Given the description of an element on the screen output the (x, y) to click on. 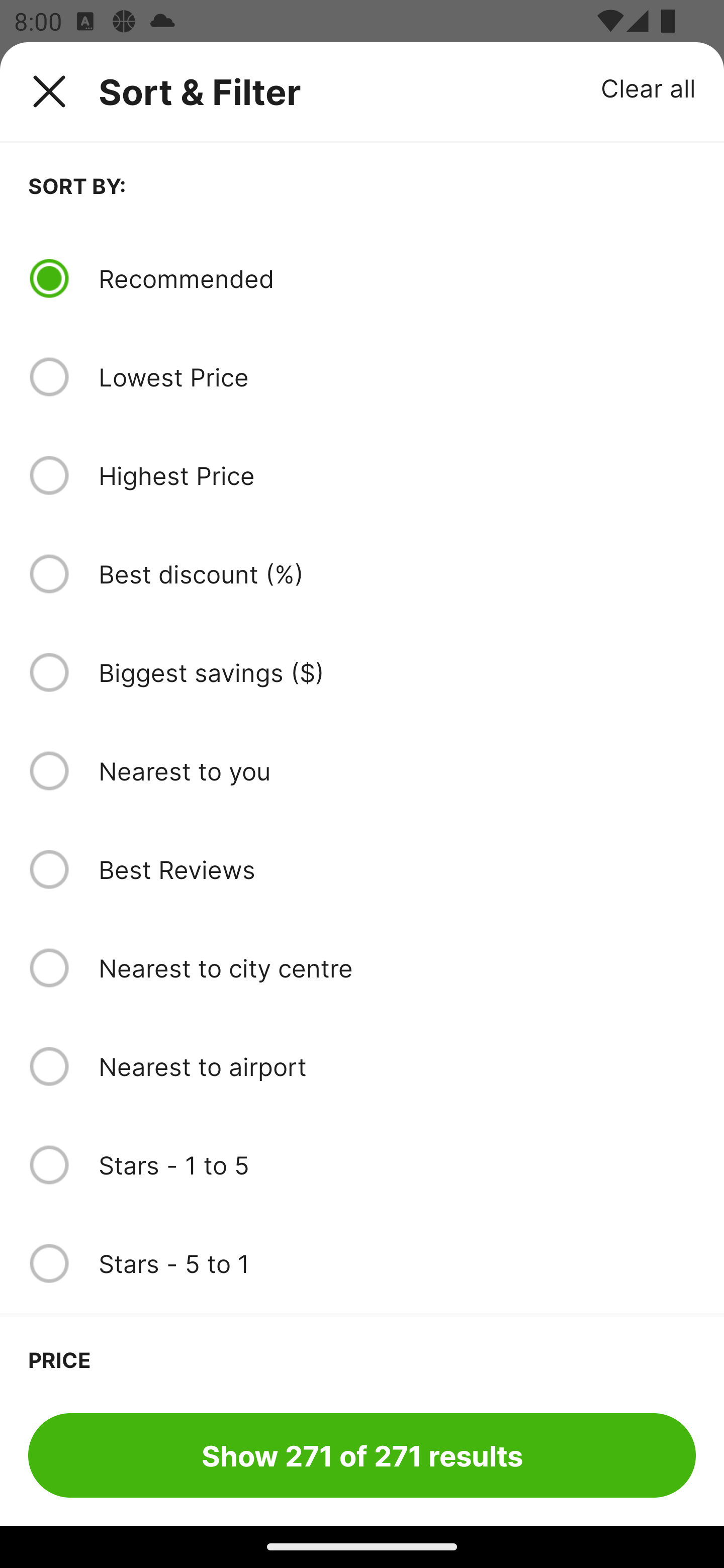
Clear all (648, 87)
Recommended  (396, 278)
Lowest Price (396, 377)
Highest Price (396, 474)
Best discount (%) (396, 573)
Biggest savings ($) (396, 672)
Nearest to you (396, 770)
Best Reviews (396, 869)
Nearest to city centre (396, 968)
Nearest to airport (396, 1065)
Stars - 1 to 5 (396, 1164)
Stars - 5 to 1 (396, 1263)
Show 271 of 271 results (361, 1454)
